Given the description of an element on the screen output the (x, y) to click on. 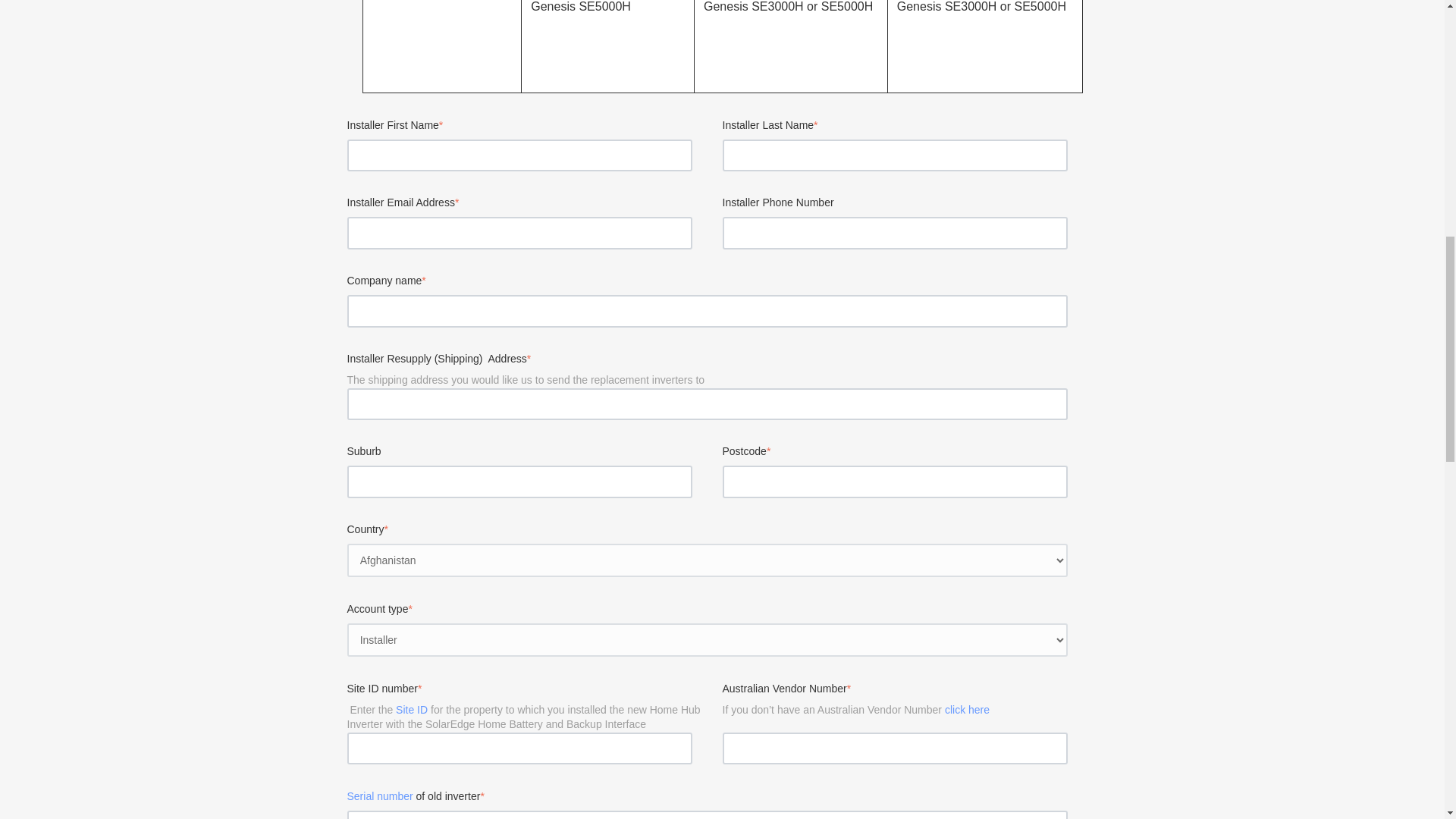
Serial number (380, 796)
Site ID (412, 709)
click here (967, 709)
